Given the description of an element on the screen output the (x, y) to click on. 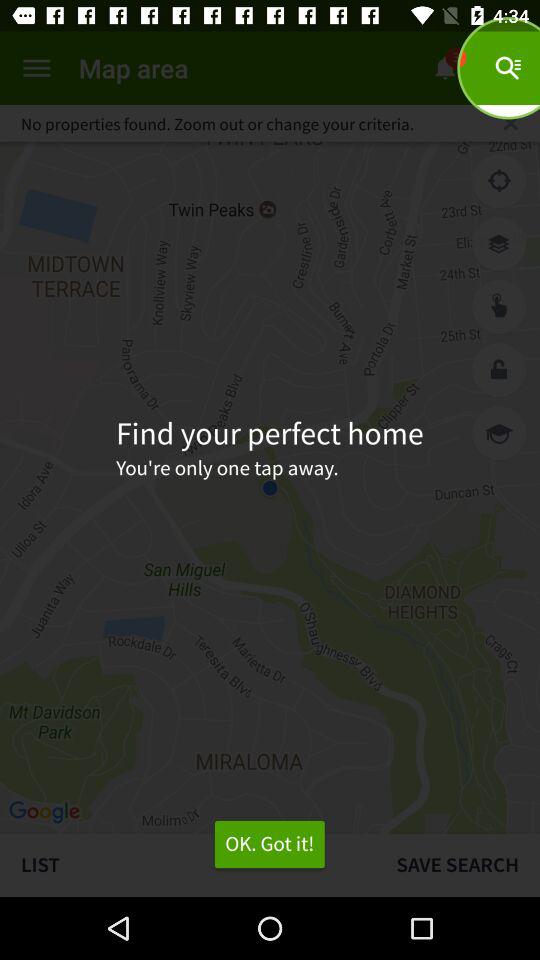
select on map (499, 307)
